Given the description of an element on the screen output the (x, y) to click on. 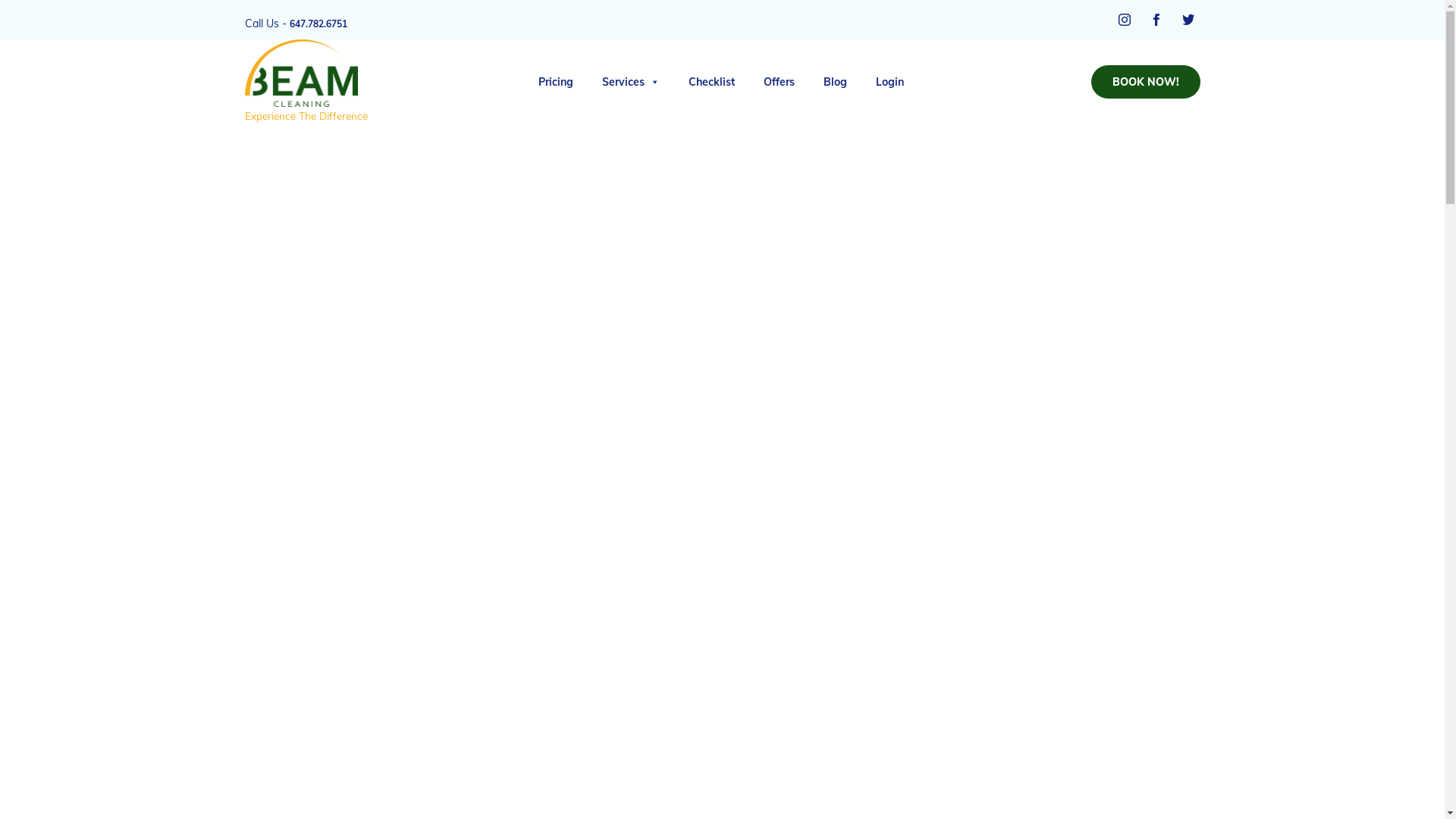
Services Element type: text (630, 81)
647.782.6751 Element type: text (318, 24)
BOOK NOW! Element type: text (1144, 81)
Blog Element type: text (834, 81)
Offers Element type: text (778, 81)
Login Element type: text (888, 81)
Checklist Element type: text (711, 81)
Pricing Element type: text (555, 81)
Skip to content Element type: text (1075, 65)
